Given the description of an element on the screen output the (x, y) to click on. 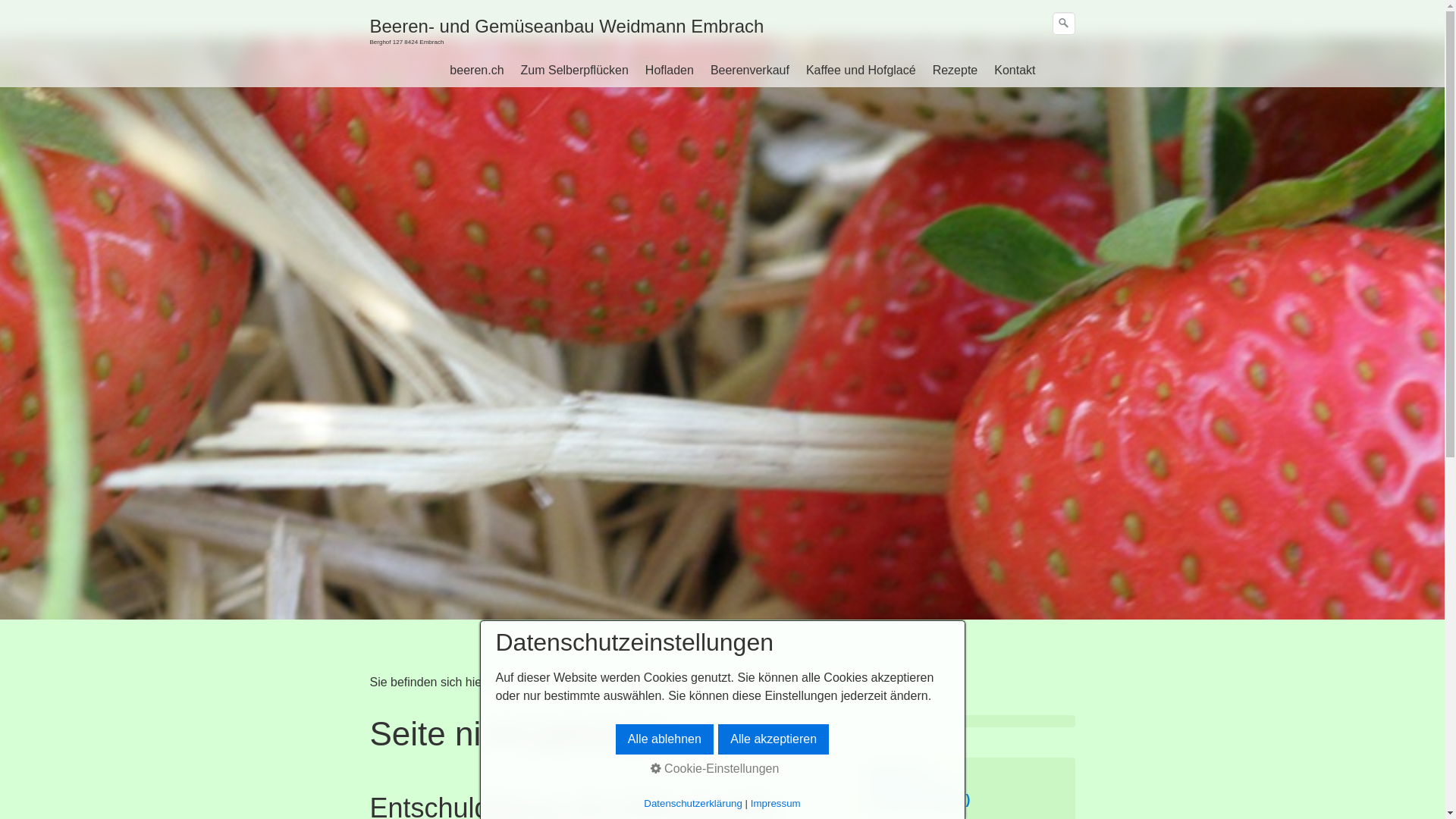
Beeren.ch Element type: text (899, 772)
Alle akzeptieren Element type: text (773, 739)
Impressum Element type: text (775, 803)
beeren.ch Element type: text (476, 70)
Beerenverkauf Element type: text (749, 70)
Alle ablehnen Element type: text (664, 739)
Seite nicht gefunden Element type: text (618, 681)
Cookie-Einstellungen Element type: text (714, 768)
Suche Element type: hover (1063, 23)
Kontakt Element type: text (1014, 70)
Hofladen Element type: text (669, 70)
beeren.ch Element type: text (522, 681)
Rezepte Element type: text (955, 70)
Aktuelles (Blog) Element type: text (918, 798)
Suchen Element type: hover (1062, 23)
